Given the description of an element on the screen output the (x, y) to click on. 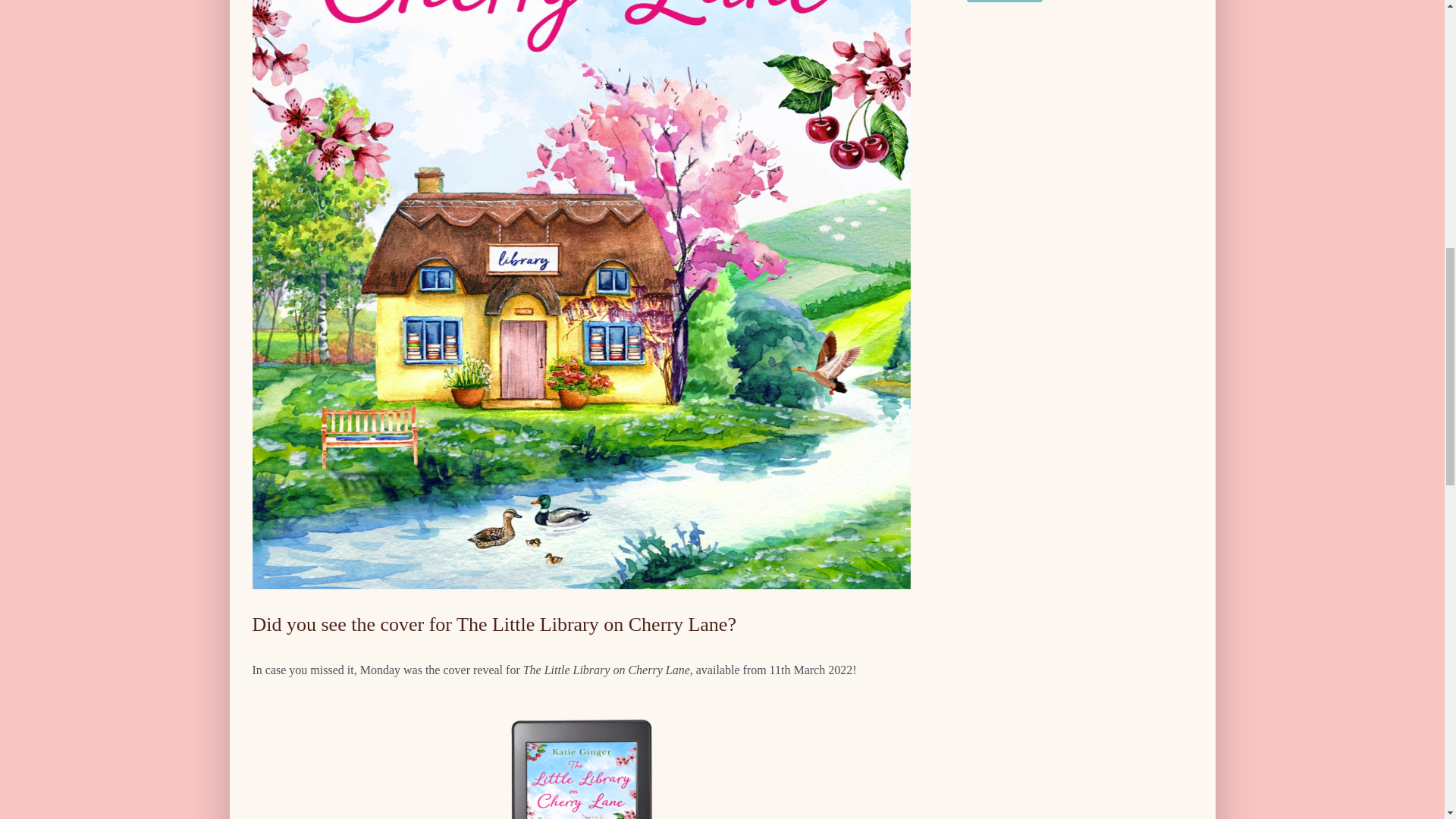
Subscribe! (1004, 1)
Subscribe! (1004, 1)
